Given the description of an element on the screen output the (x, y) to click on. 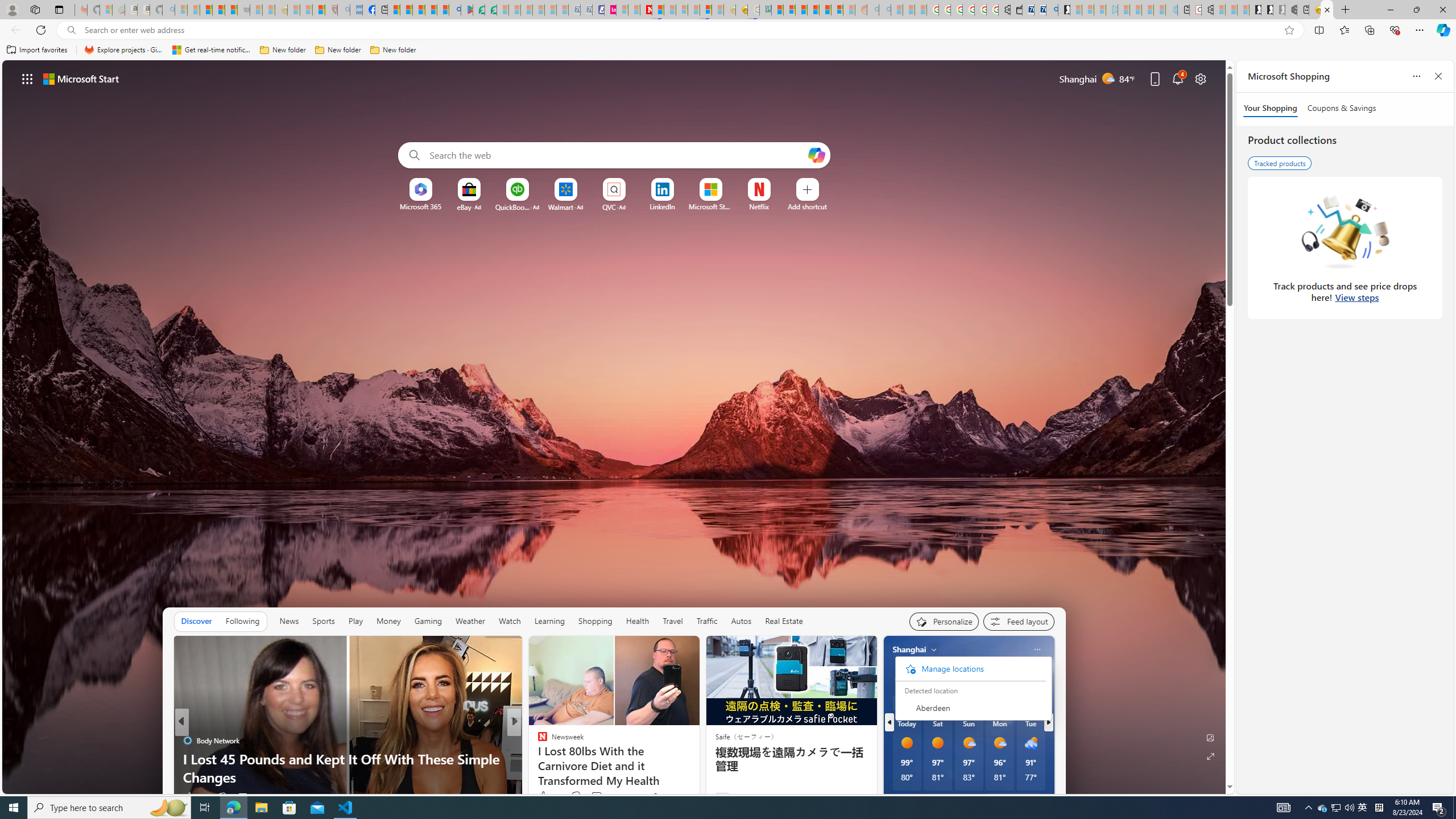
Kinda Frugal - MSN (824, 9)
14 Common Myths Debunked By Scientific Facts - Sleeping (670, 9)
You're following Newsweek (670, 795)
Hourly (909, 703)
Search icon (70, 29)
LinkedIn (662, 206)
Mostly sunny (904, 678)
Body Network (187, 740)
My location (934, 649)
Feed settings (1018, 621)
